Given the description of an element on the screen output the (x, y) to click on. 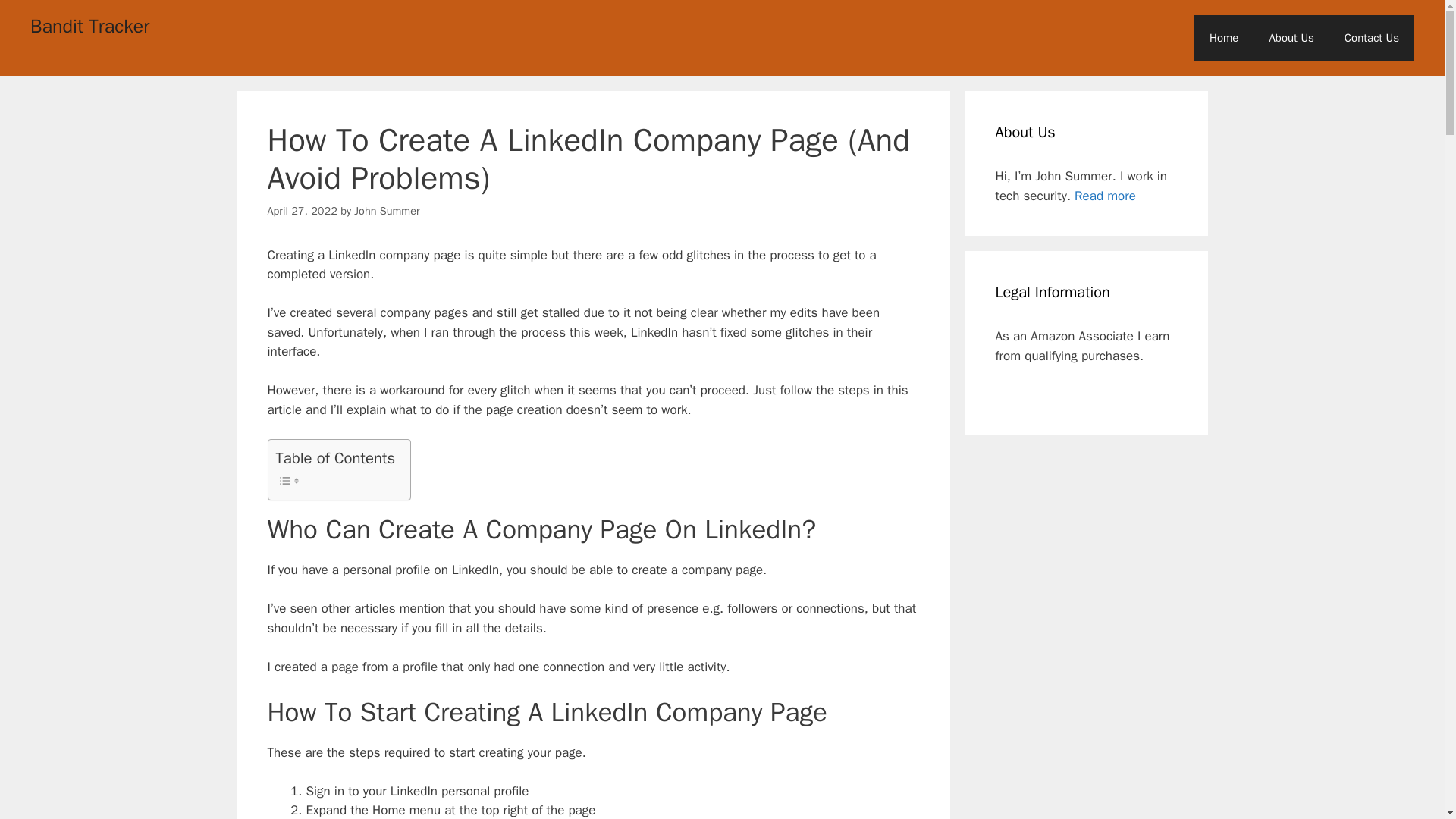
John Summer (386, 210)
View all posts by John Summer (386, 210)
Read more (1104, 195)
Home (1223, 37)
Bandit Tracker (89, 25)
Contact Us (1371, 37)
About Us (1290, 37)
